Given the description of an element on the screen output the (x, y) to click on. 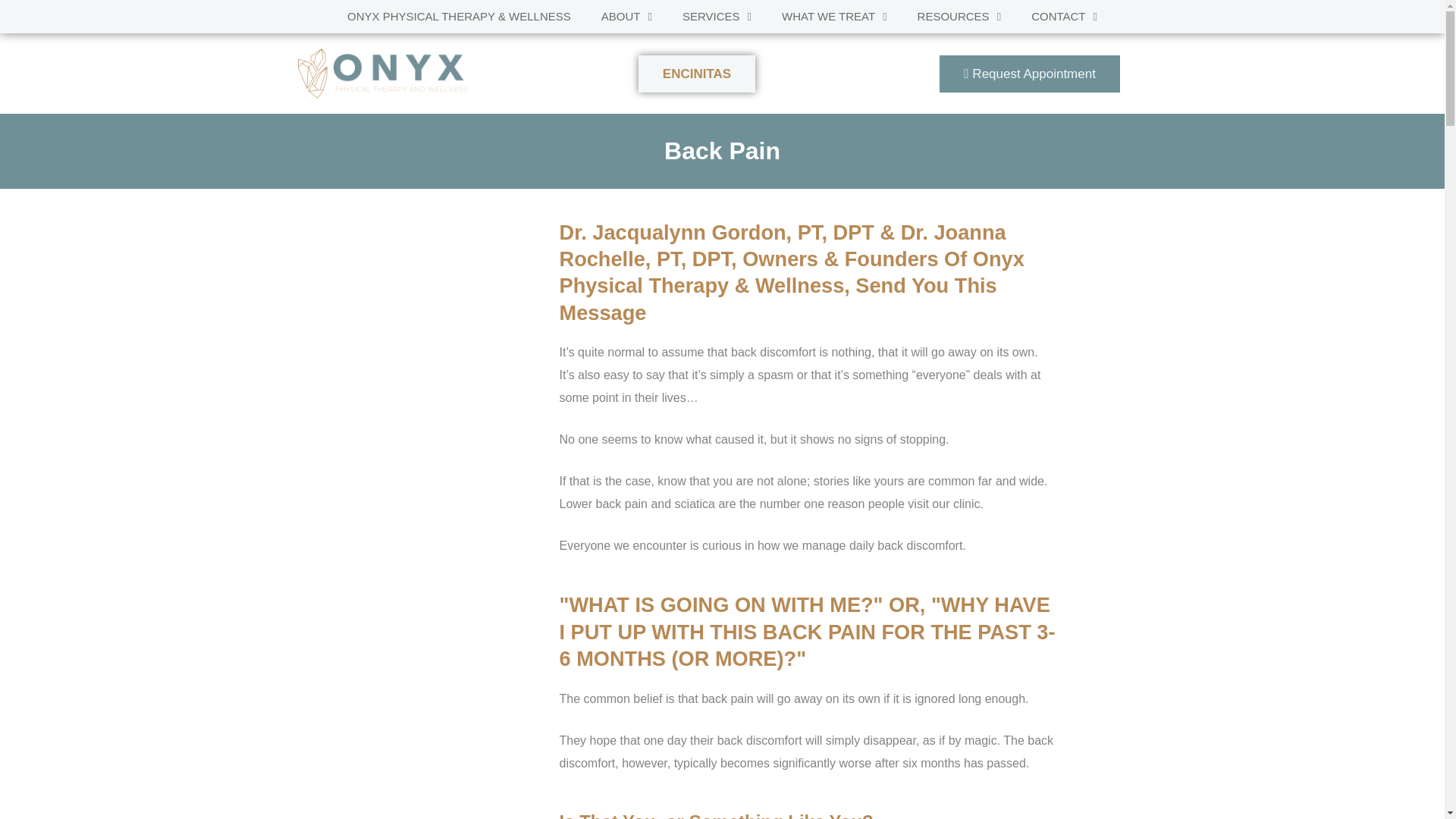
RESOURCES (959, 16)
WHAT WE TREAT (834, 16)
ABOUT (626, 16)
SERVICES (716, 16)
CONTACT (1064, 16)
